Given the description of an element on the screen output the (x, y) to click on. 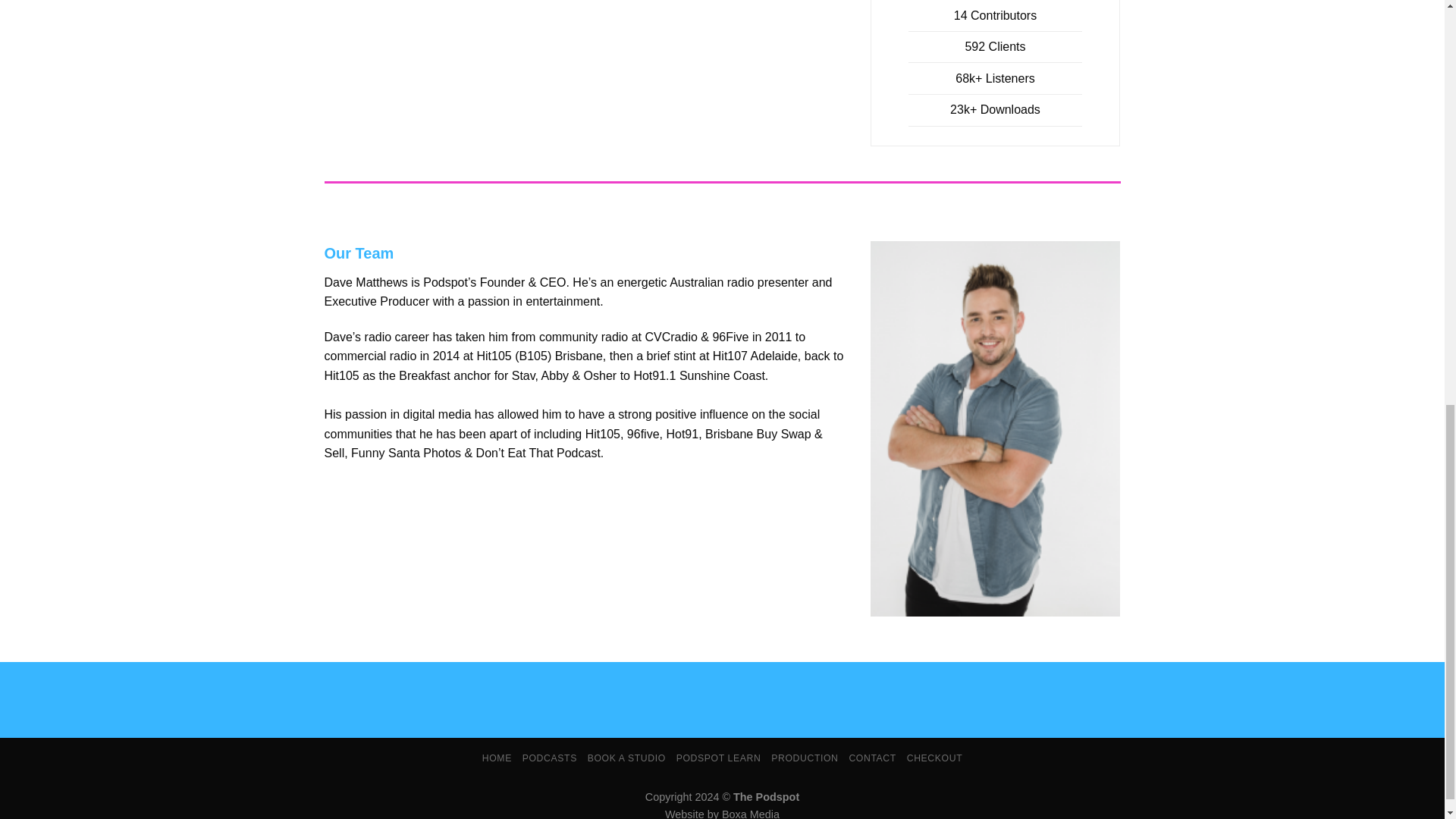
PRODUCTION (804, 757)
PODSPOT LEARN (719, 757)
BOOK A STUDIO (626, 757)
PODCASTS (549, 757)
HOME (496, 757)
